Given the description of an element on the screen output the (x, y) to click on. 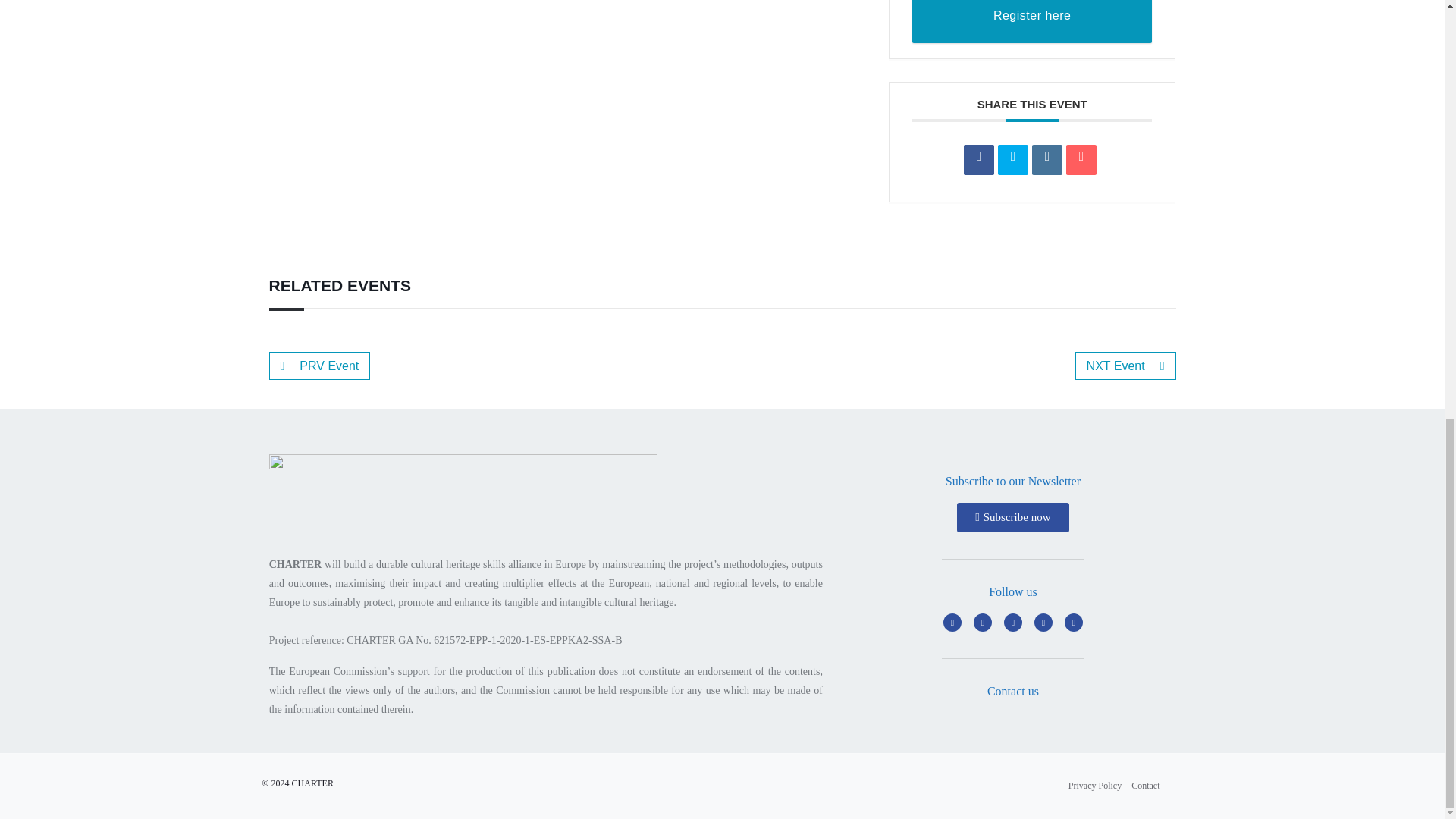
NXT Event (1125, 366)
Register here (1032, 21)
Linkedin (1047, 159)
Tweet (1012, 159)
PRV Event (318, 366)
Subscribe now (1012, 517)
Share on Facebook (978, 159)
Email (1080, 159)
